Given the description of an element on the screen output the (x, y) to click on. 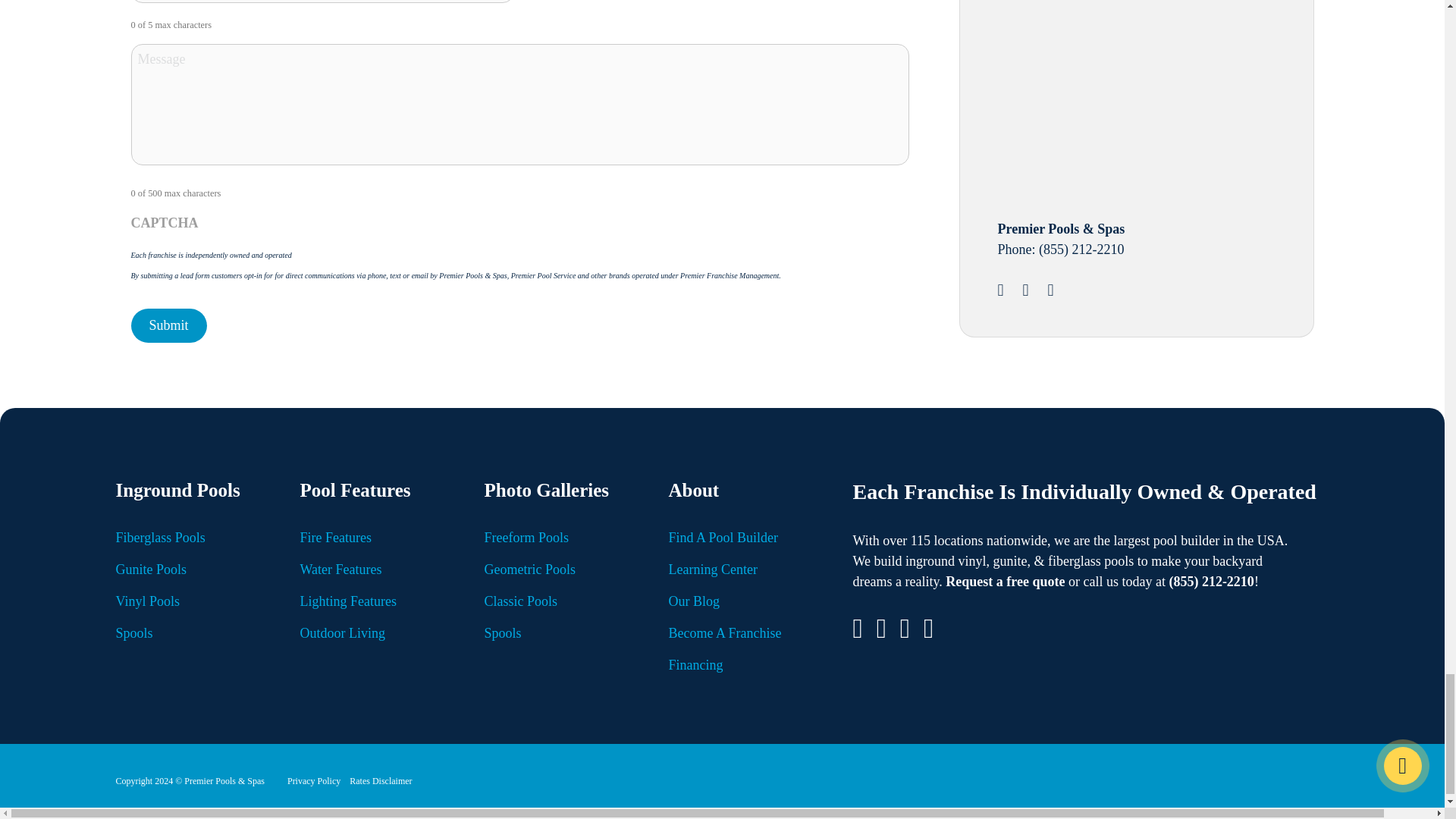
Submit (168, 325)
Pool Financing (1111, 94)
